Given the description of an element on the screen output the (x, y) to click on. 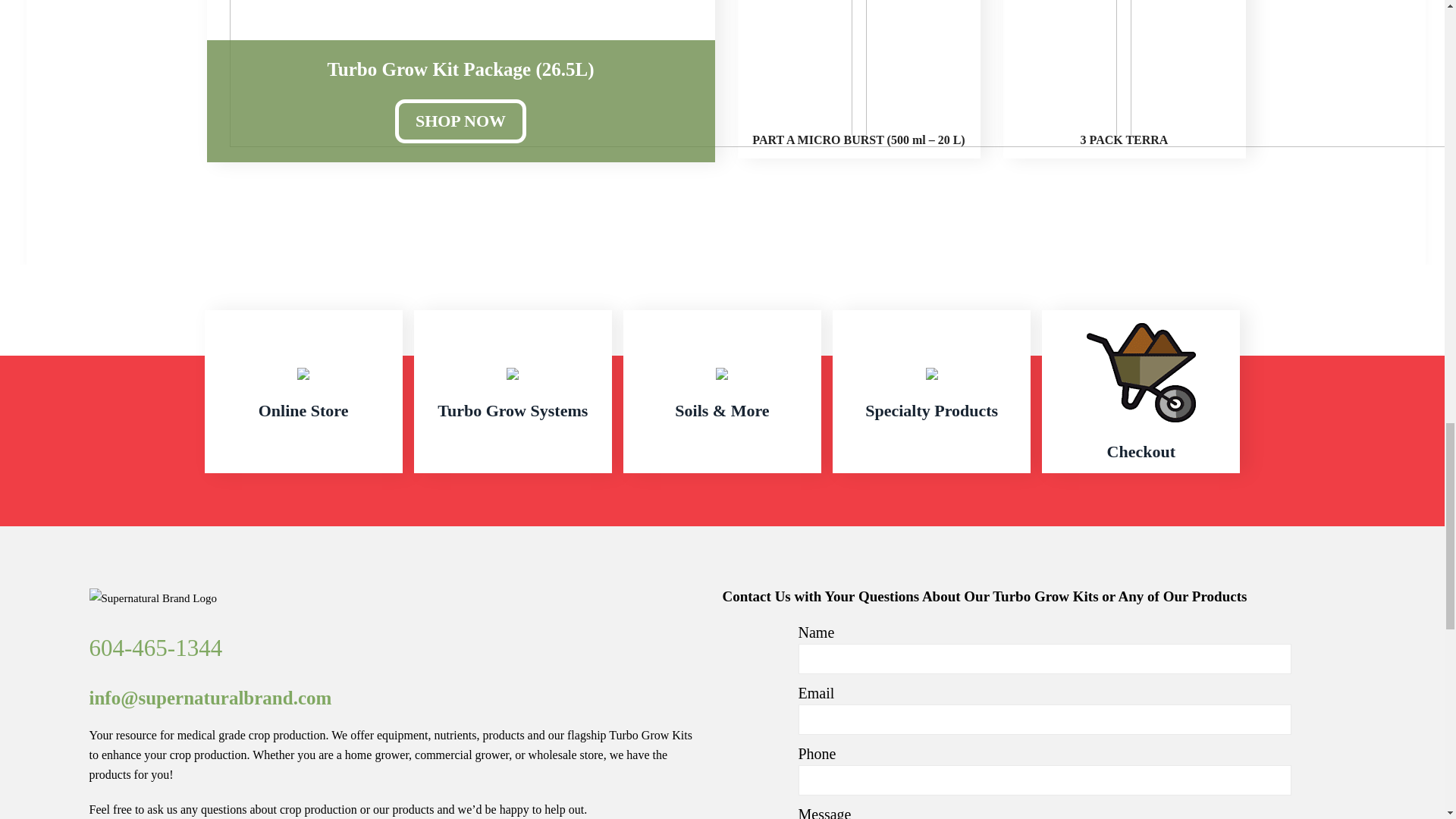
Specialty Products (931, 391)
Turbo Grow Systems (512, 391)
Online Store (304, 391)
Checkout (1141, 391)
